Given the description of an element on the screen output the (x, y) to click on. 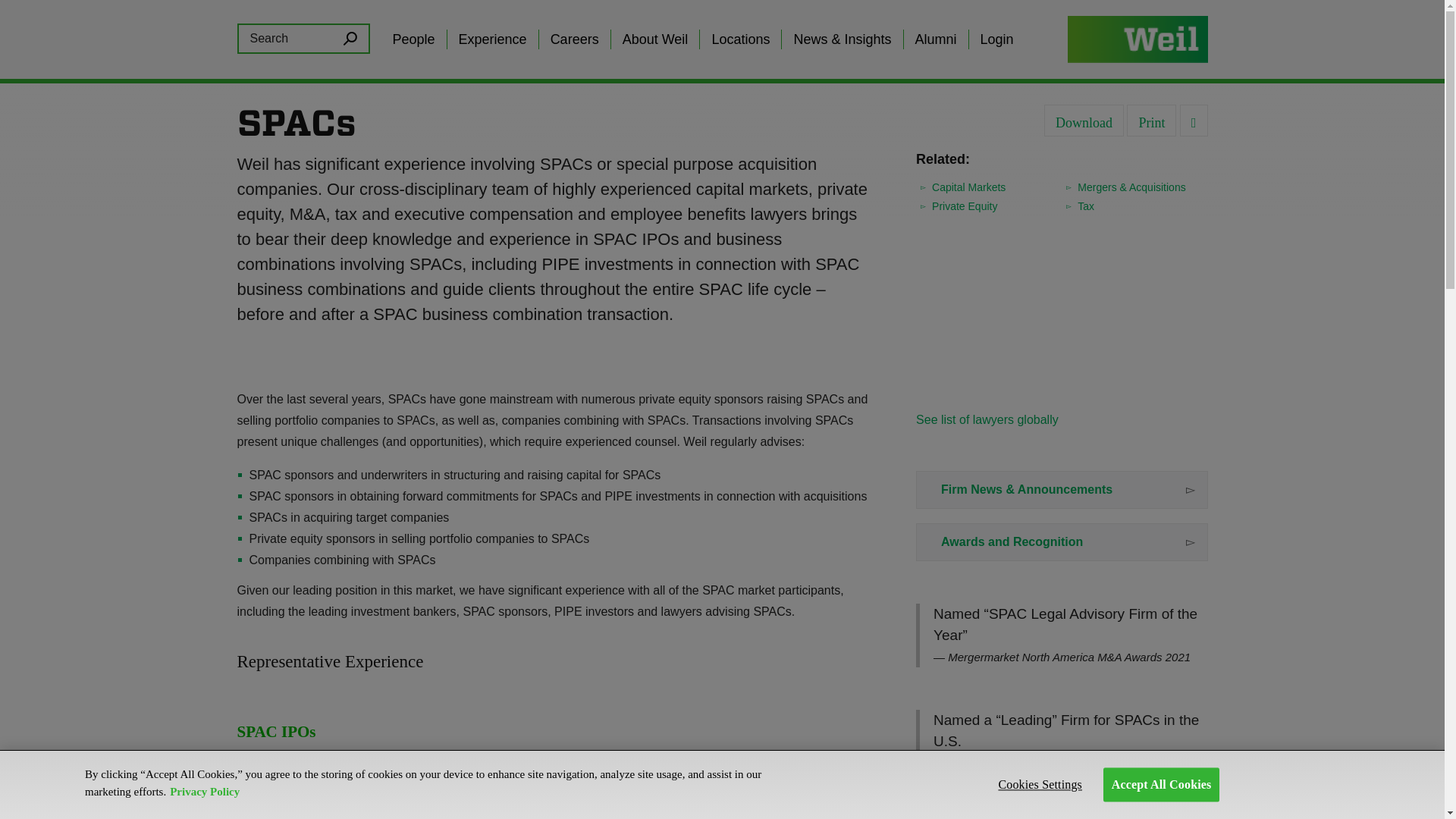
Experience (492, 39)
People (413, 39)
Weil Private Equity Sponsor Sync (1018, 806)
